Given the description of an element on the screen output the (x, y) to click on. 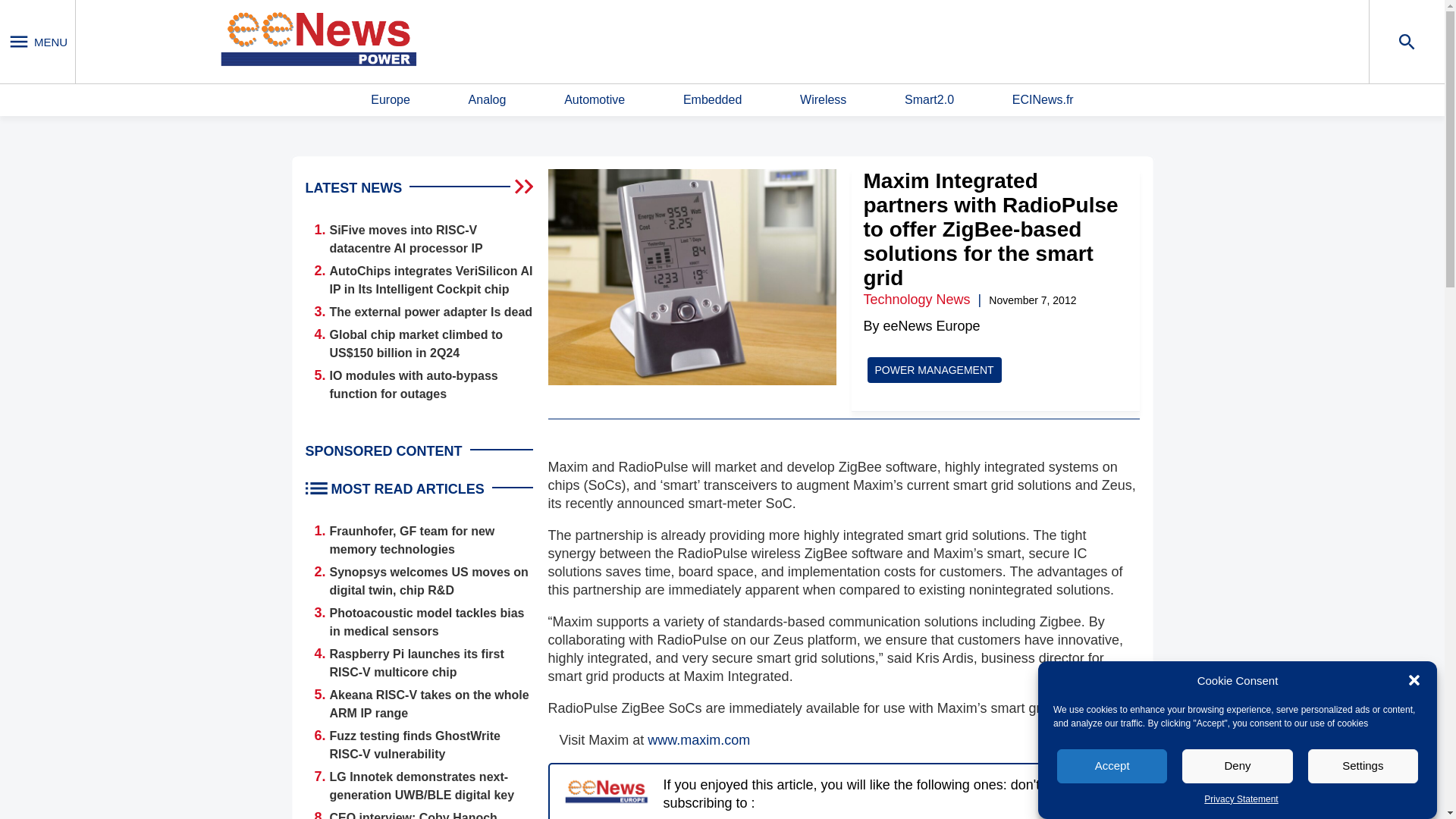
Analog (487, 99)
Europe (390, 99)
Wireless (822, 99)
Embedded (711, 99)
www.maxim.com (698, 739)
ECINews.fr (1042, 99)
Smart2.0 (928, 99)
Automotive (594, 99)
